Given the description of an element on the screen output the (x, y) to click on. 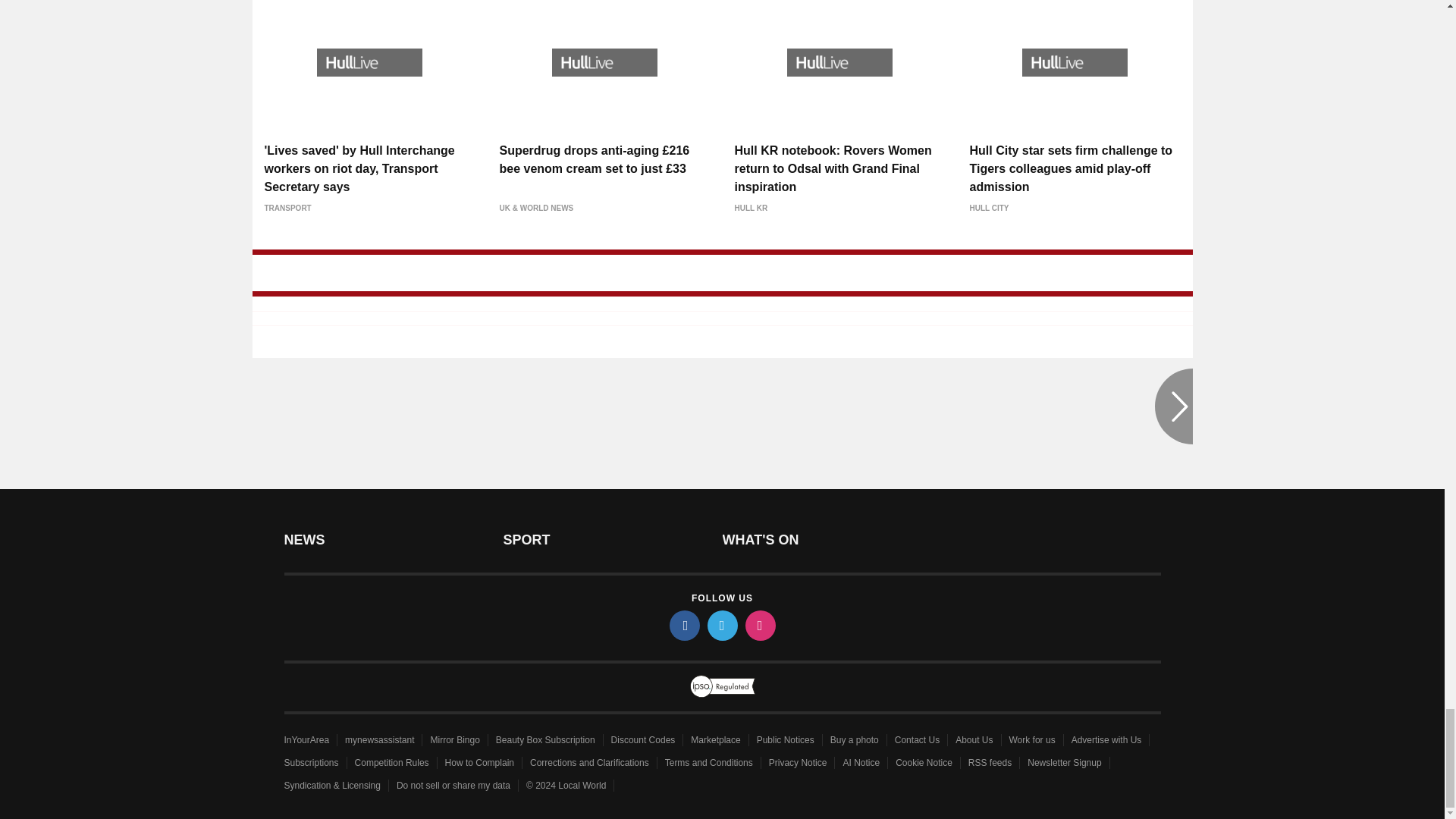
instagram (759, 625)
facebook (683, 625)
twitter (721, 625)
